Given the description of an element on the screen output the (x, y) to click on. 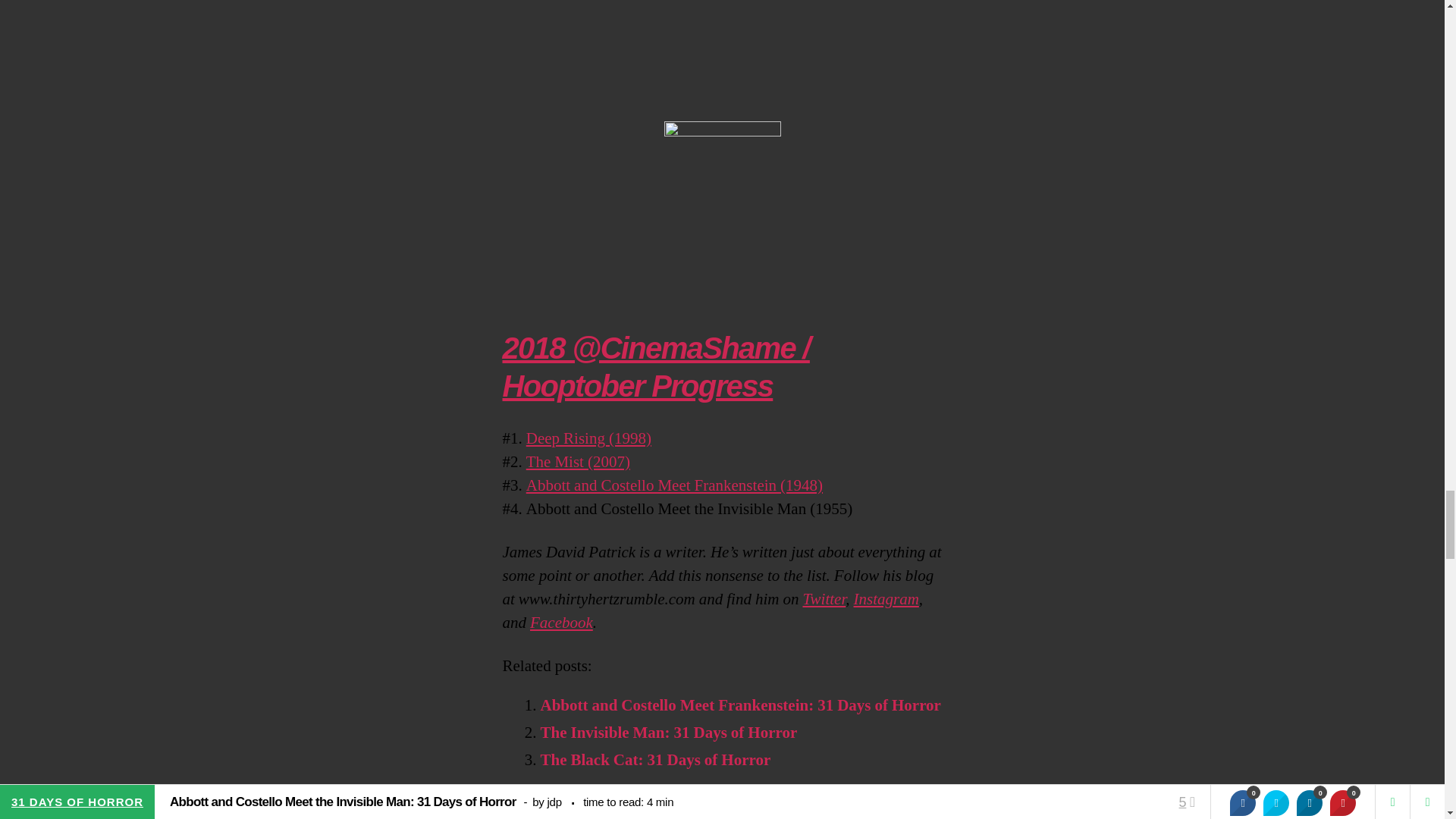
The Black Cat: 31 Days of Horror (655, 760)
The Invisible Man: 31 Days of Horror (668, 732)
Twitter (823, 598)
Abbott and Costello Meet Frankenstein: 31 Days of Horror (740, 705)
